Given the description of an element on the screen output the (x, y) to click on. 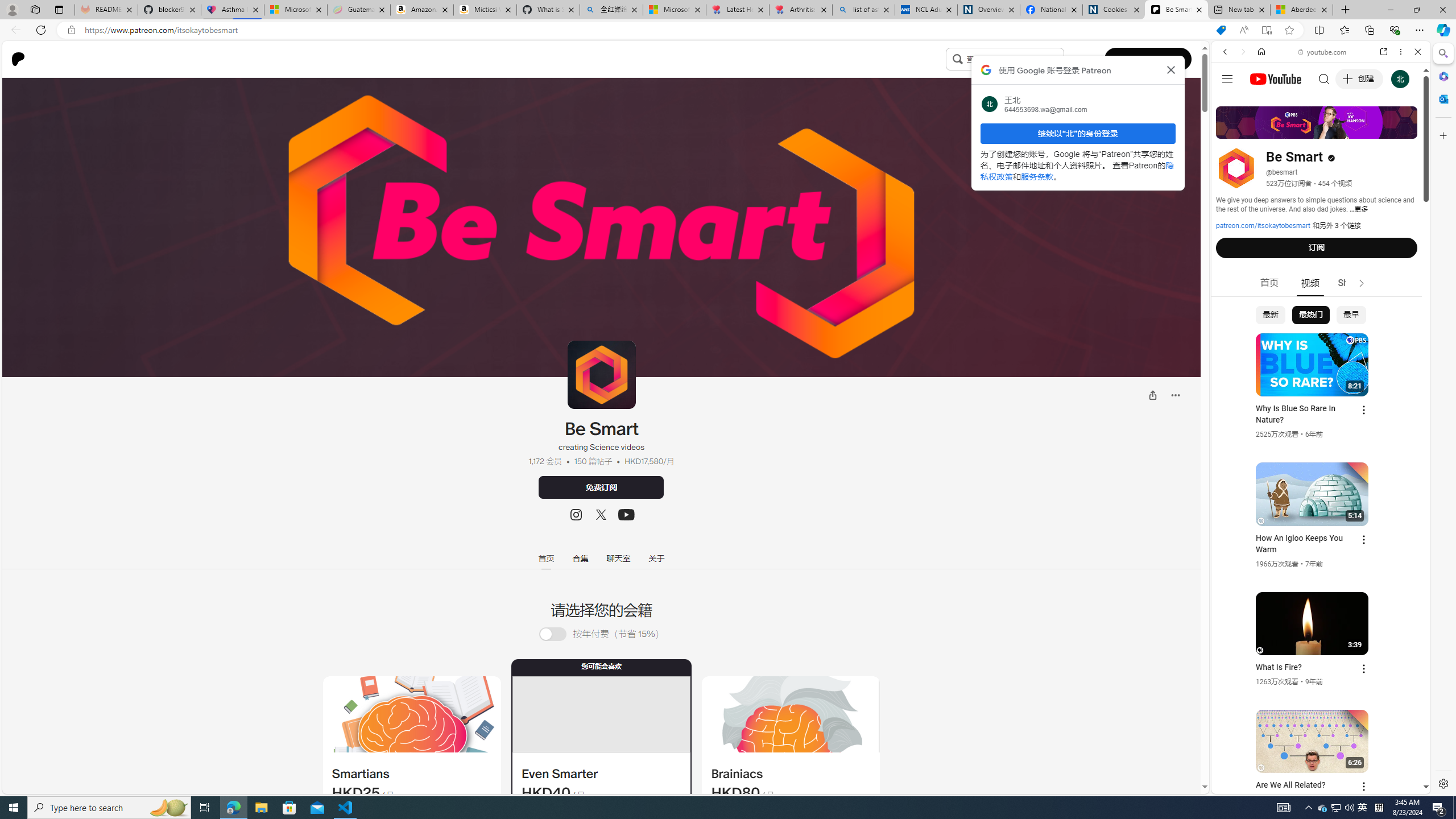
patreon.com/itsokaytobesmart (1262, 225)
This site scope (1259, 102)
YouTube (1315, 655)
Side bar (1443, 418)
#you (1320, 253)
Class: b_serphb (1404, 130)
Asthma Inhalers: Names and Types (232, 9)
